Given the description of an element on the screen output the (x, y) to click on. 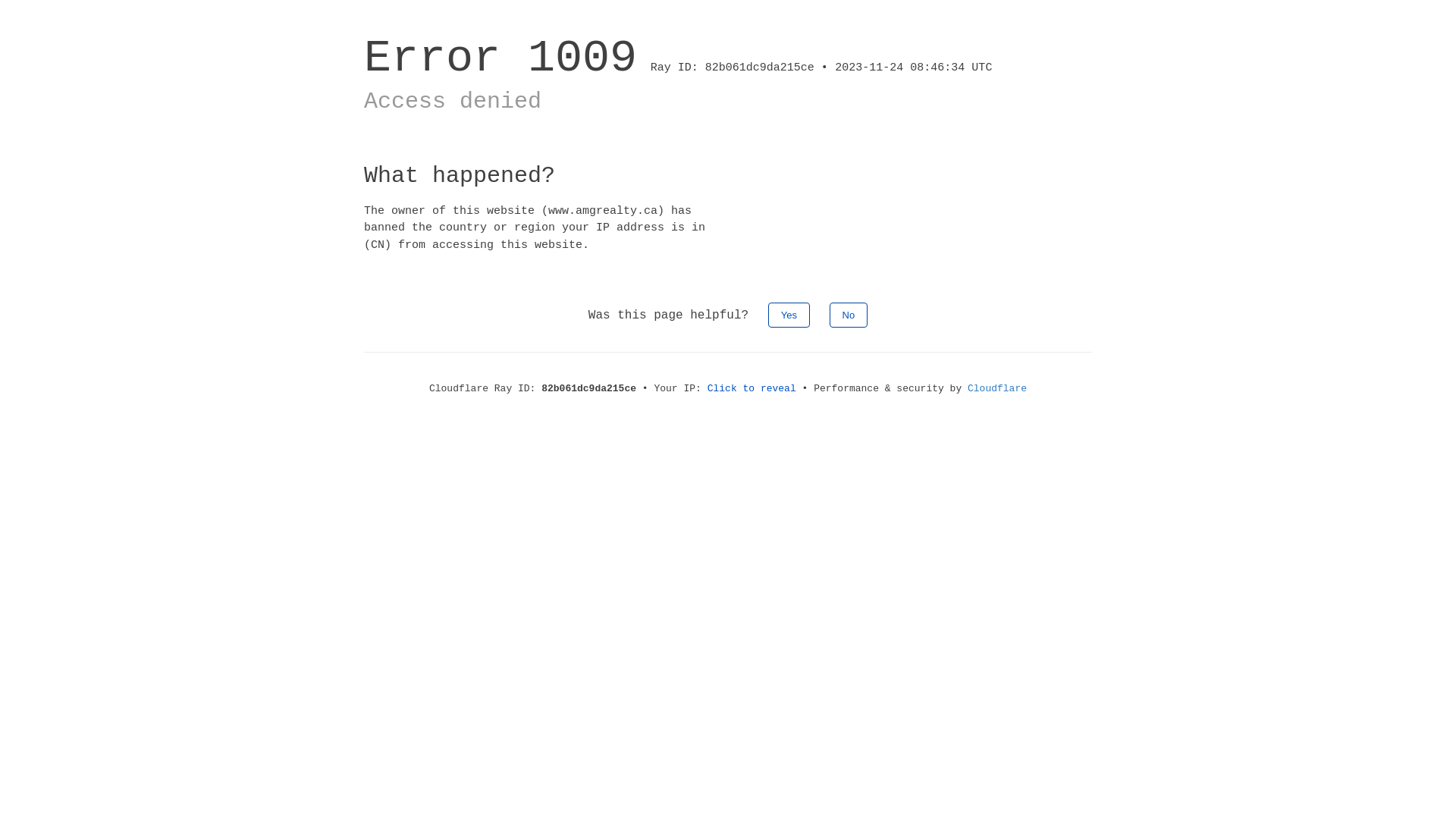
Yes Element type: text (788, 314)
Click to reveal Element type: text (751, 388)
No Element type: text (848, 314)
Cloudflare Element type: text (996, 388)
